Given the description of an element on the screen output the (x, y) to click on. 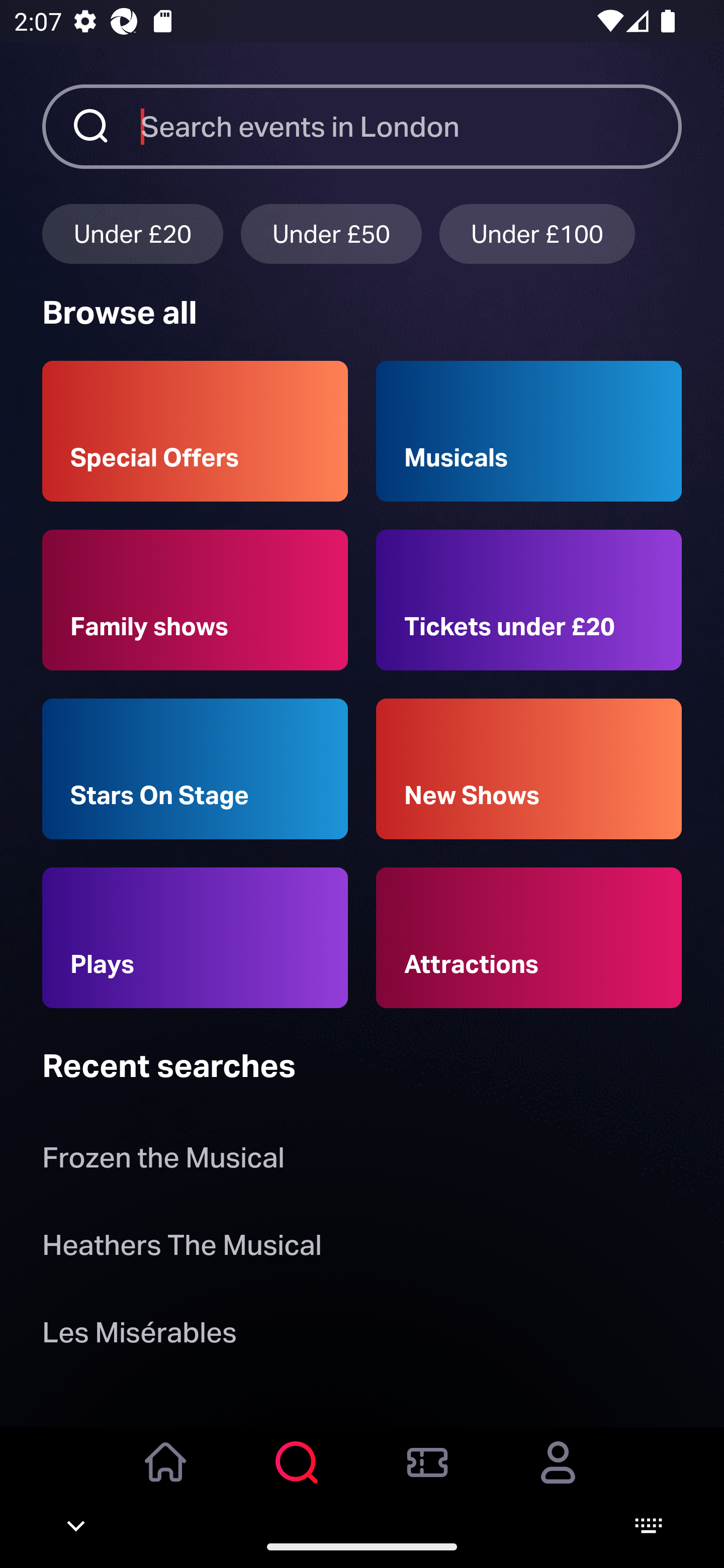
Search events in London (411, 126)
Under £20 (131, 233)
Under £50 (331, 233)
Under £100 (536, 233)
Special Offers (194, 430)
Musicals (528, 430)
Family shows (194, 600)
Tickets under £20  (528, 600)
Stars On Stage (194, 768)
New Shows (528, 768)
Plays (194, 937)
Attractions  (528, 937)
Frozen the Musical (162, 1161)
Heathers The Musical (181, 1248)
Les Misérables (138, 1335)
Home (165, 1475)
Orders (427, 1475)
Account (558, 1475)
